Given the description of an element on the screen output the (x, y) to click on. 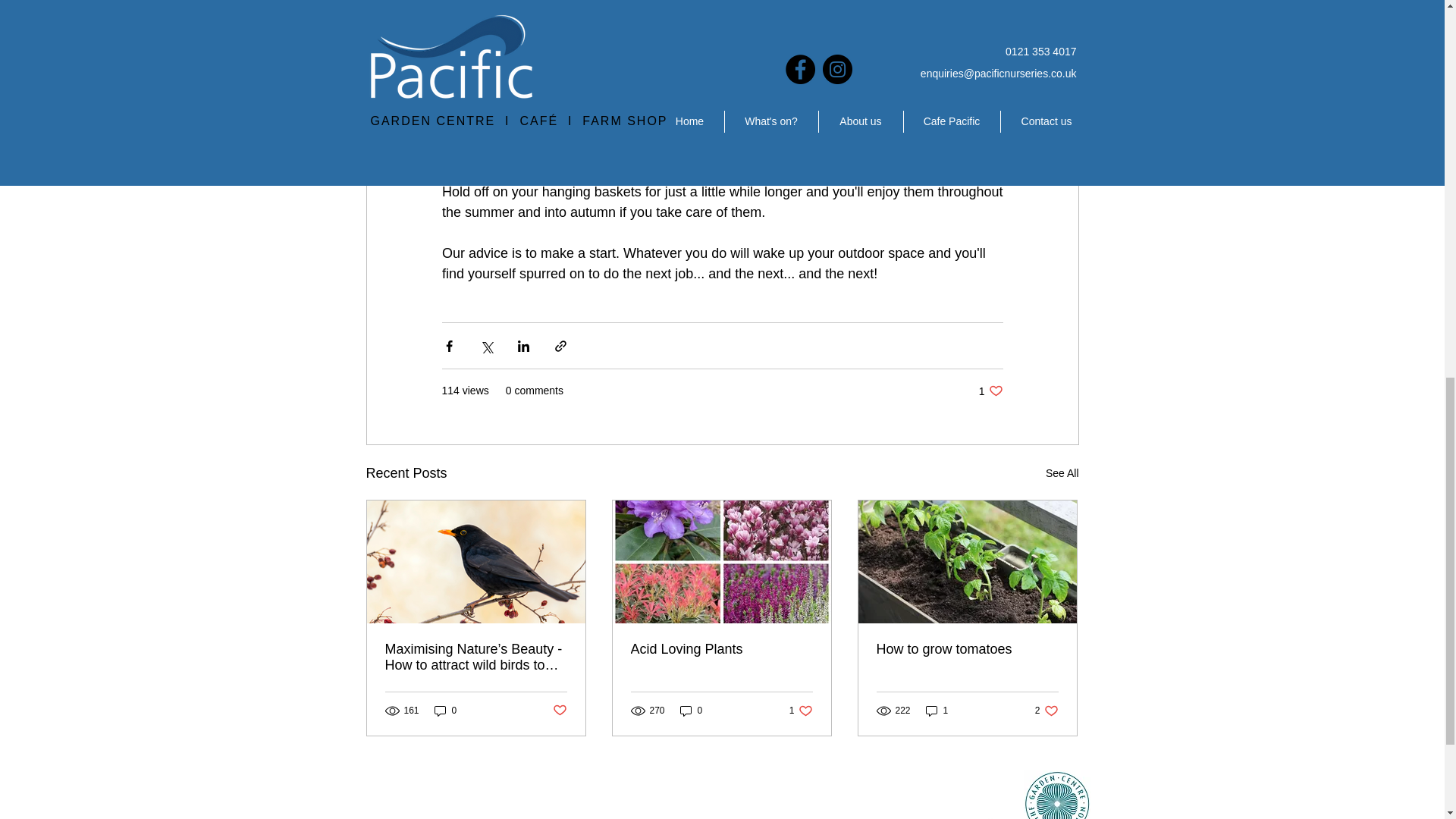
GCA logo.JPG (989, 813)
Acid Loving Plants (721, 649)
0 (691, 710)
GCA logo.JPG (990, 391)
How to grow tomatoes (1056, 794)
1 (967, 649)
Post not marked as liked (937, 710)
0 (558, 709)
See All (445, 710)
